Given the description of an element on the screen output the (x, y) to click on. 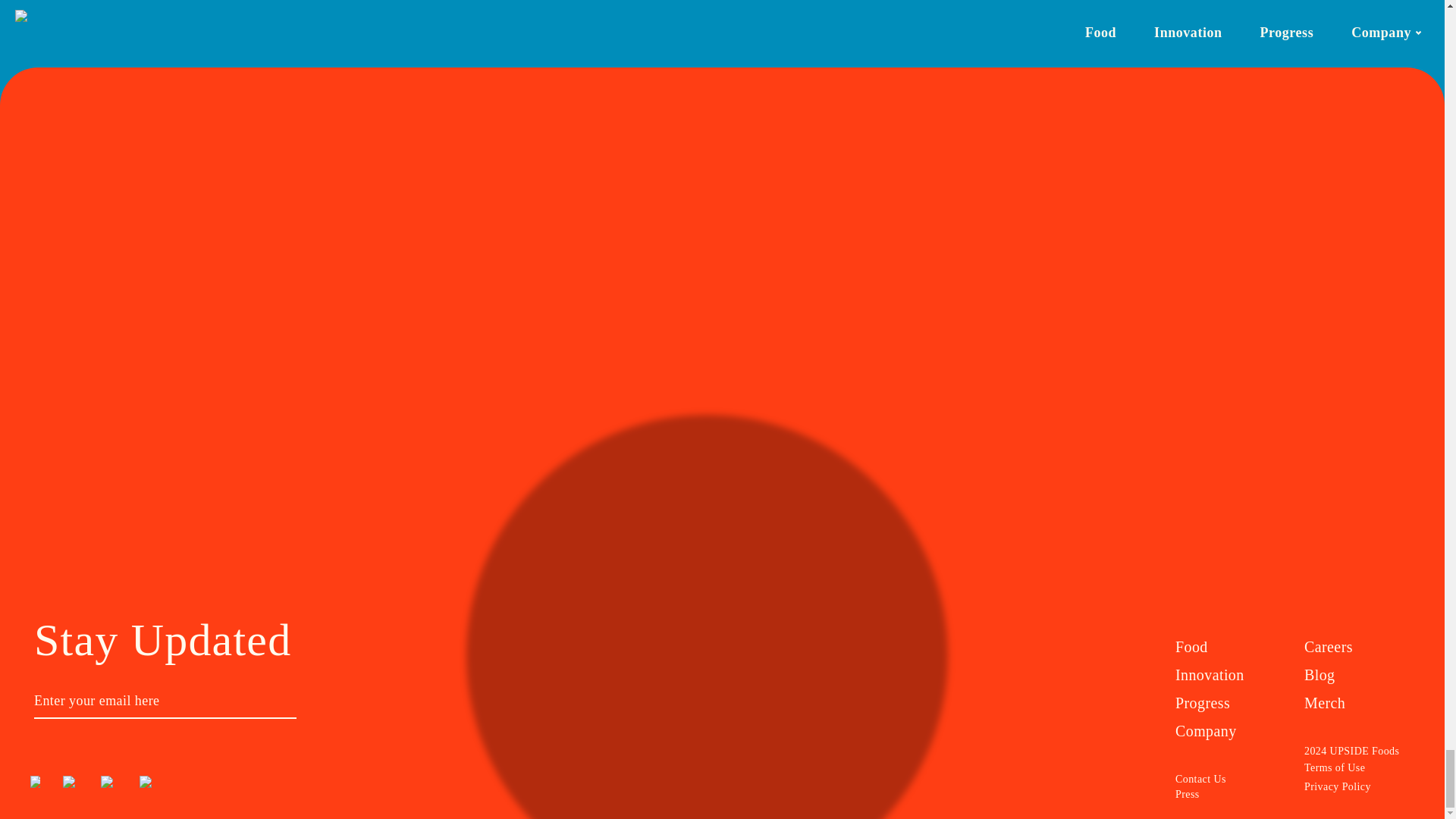
Privacy Policy (1357, 787)
Press (1227, 794)
Innovation (1227, 674)
Progress (1227, 703)
Merch (1357, 703)
Company (1227, 731)
Food (1227, 646)
Terms of Use (1357, 768)
Contact Us (1227, 779)
Careers (1357, 646)
